Given the description of an element on the screen output the (x, y) to click on. 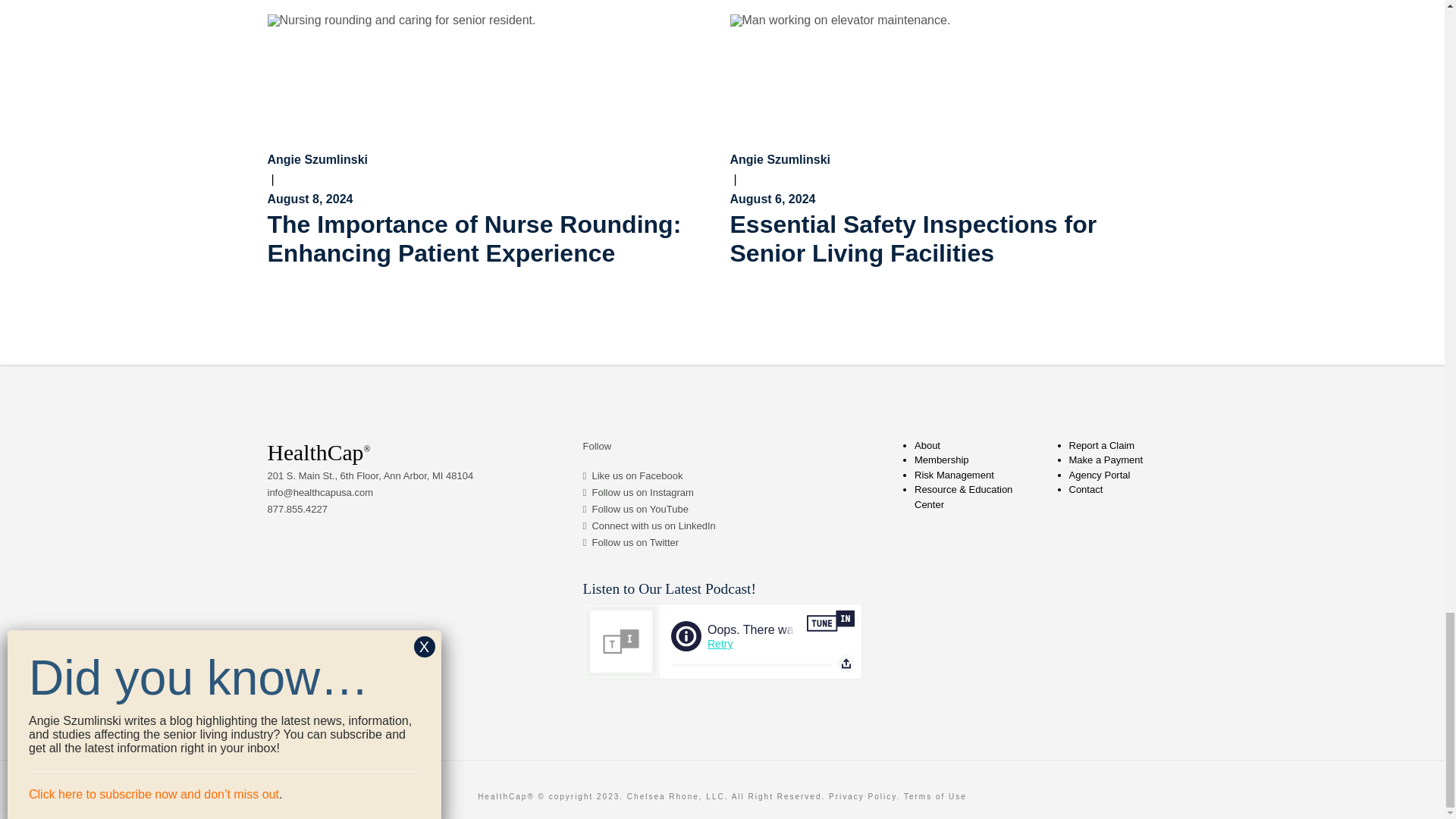
Agency Portal (1099, 474)
Like us on Facebook (636, 475)
Make a Payment (1105, 460)
Report a Claim (1101, 445)
Connect with us on LinkedIn (652, 525)
About (927, 445)
Follow us on Instagram (642, 491)
Terms of Use (935, 796)
Follow us on YouTube (639, 509)
877.855.4227 (296, 509)
